Given the description of an element on the screen output the (x, y) to click on. 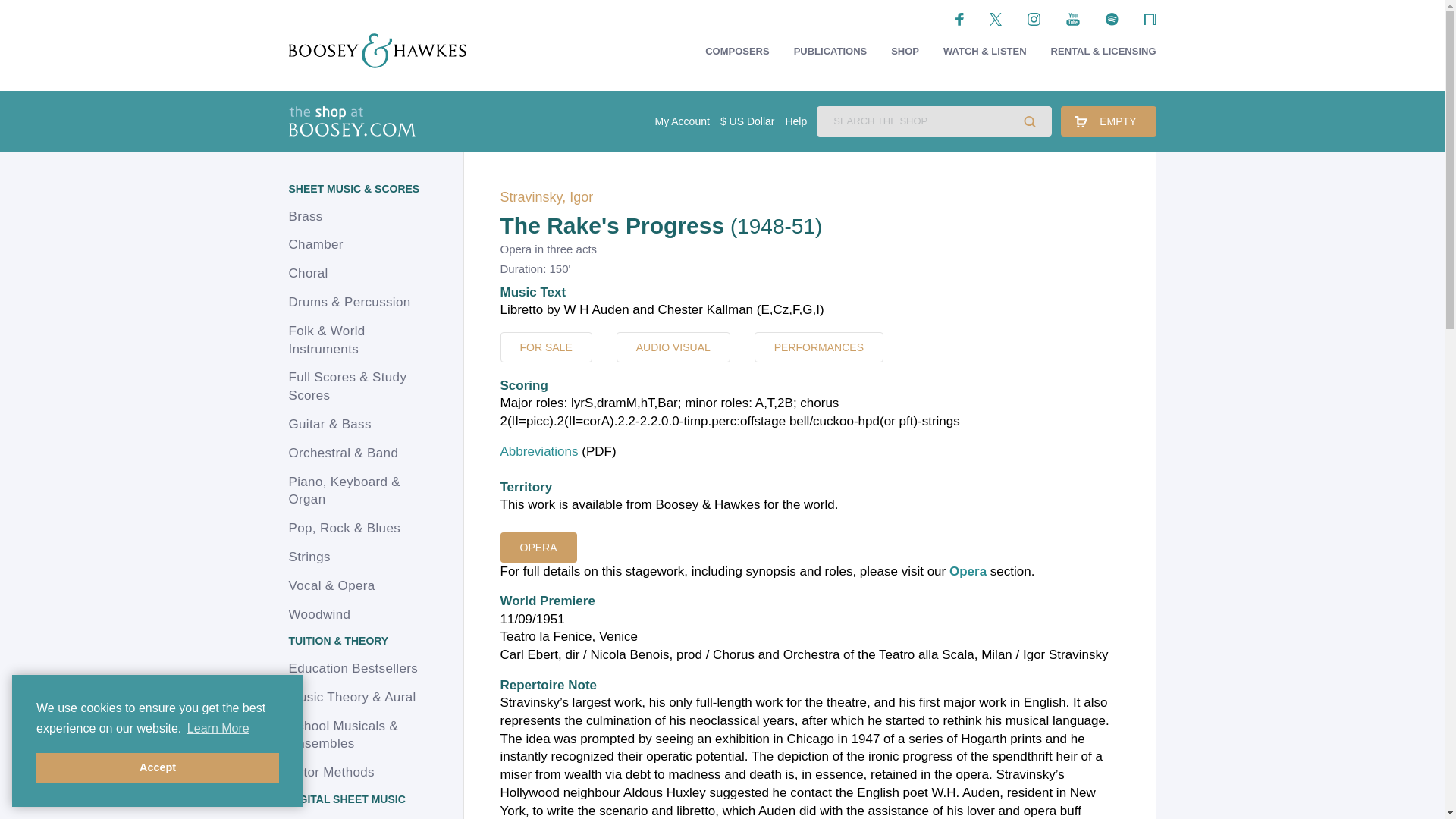
COMPOSERS (737, 51)
View Our YouTube Channel (1072, 18)
Listen on Spotify (1111, 18)
Follow us on Twitter (996, 18)
PUBLICATIONS (830, 51)
Learn More (217, 728)
SHOP (904, 51)
Follow us on Instagram (1034, 18)
Accept (157, 767)
